Given the description of an element on the screen output the (x, y) to click on. 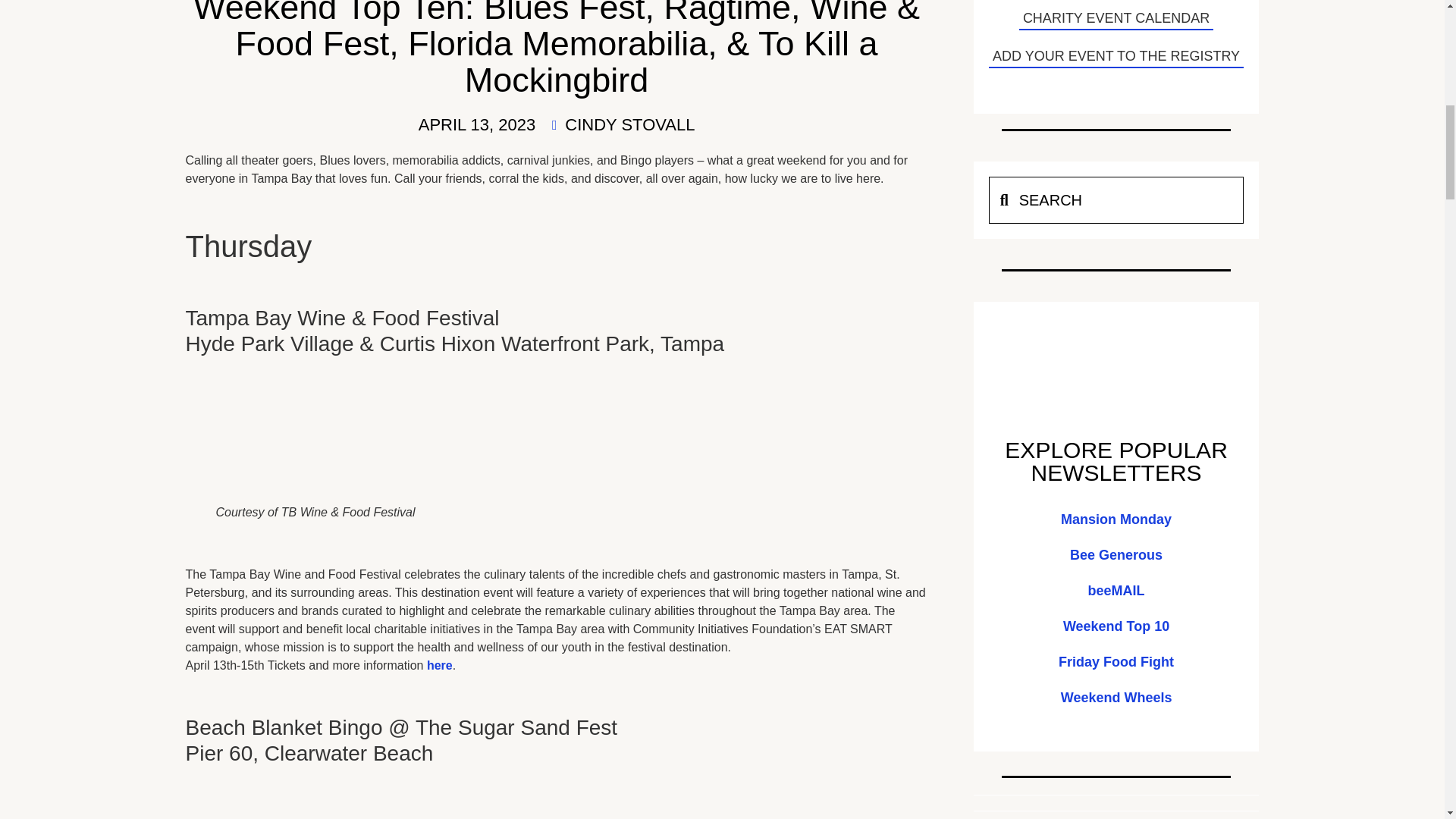
here (439, 665)
Search (1131, 199)
